Given the description of an element on the screen output the (x, y) to click on. 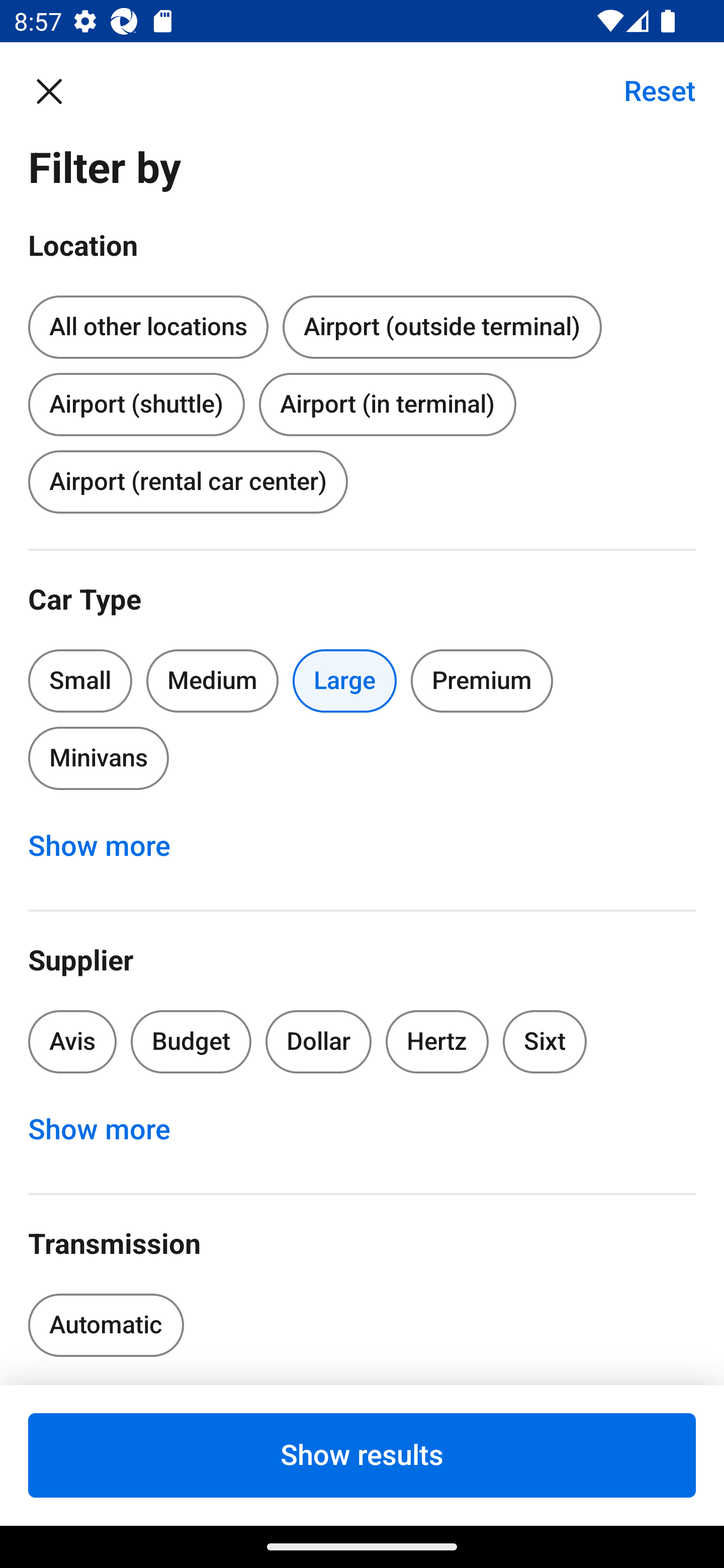
Close (59, 90)
Reset (649, 90)
All other locations (148, 327)
Airport (outside terminal) (441, 327)
Airport (shuttle) (136, 400)
Airport (in terminal) (387, 404)
Airport (rental car center) (187, 481)
Small (80, 680)
Medium (212, 680)
Premium (482, 680)
Minivans (98, 758)
Show more (109, 846)
Avis (72, 1041)
Budget (191, 1041)
Dollar (318, 1041)
Hertz (437, 1041)
Sixt (544, 1041)
Show more (109, 1129)
Automatic (105, 1324)
Show results (361, 1454)
